Given the description of an element on the screen output the (x, y) to click on. 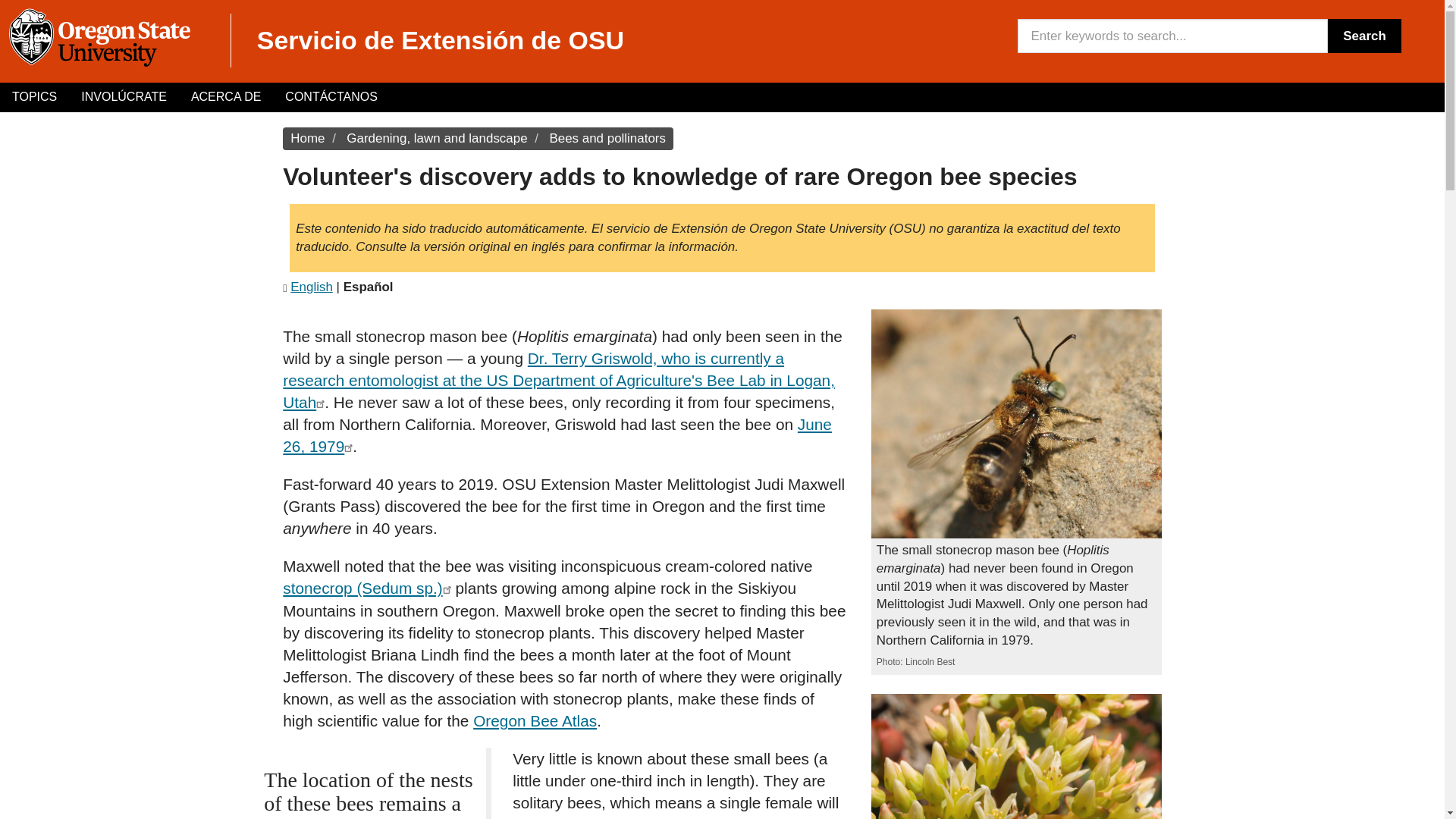
Search (1363, 35)
Enter keywords to search (1172, 35)
TOPICS (34, 96)
